Given the description of an element on the screen output the (x, y) to click on. 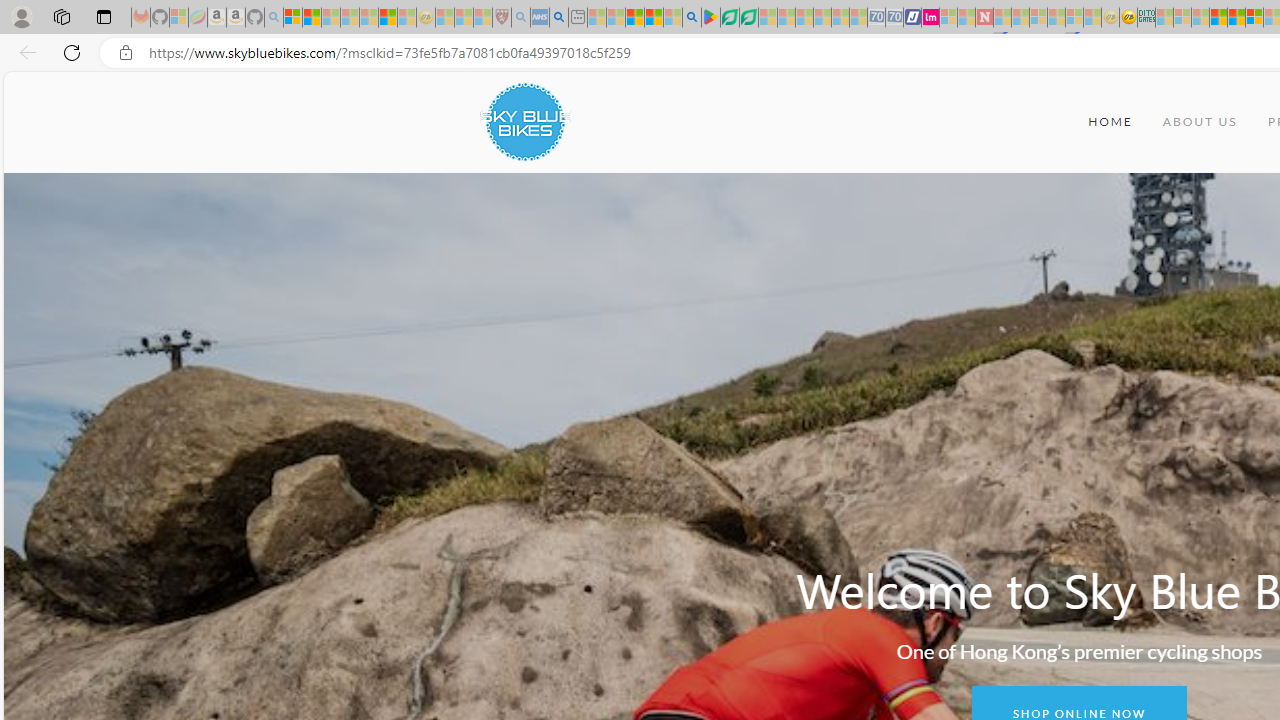
Cheap Hotels - Save70.com - Sleeping (893, 17)
Pets - MSN (654, 17)
list of asthma inhalers uk - Search - Sleeping (520, 17)
Class: uk-navbar-item uk-logo (524, 122)
Terms of Use Agreement (729, 17)
MSNBC - MSN - Sleeping (1163, 17)
Trusted Community Engagement and Contributions | Guidelines (1002, 17)
